Given the description of an element on the screen output the (x, y) to click on. 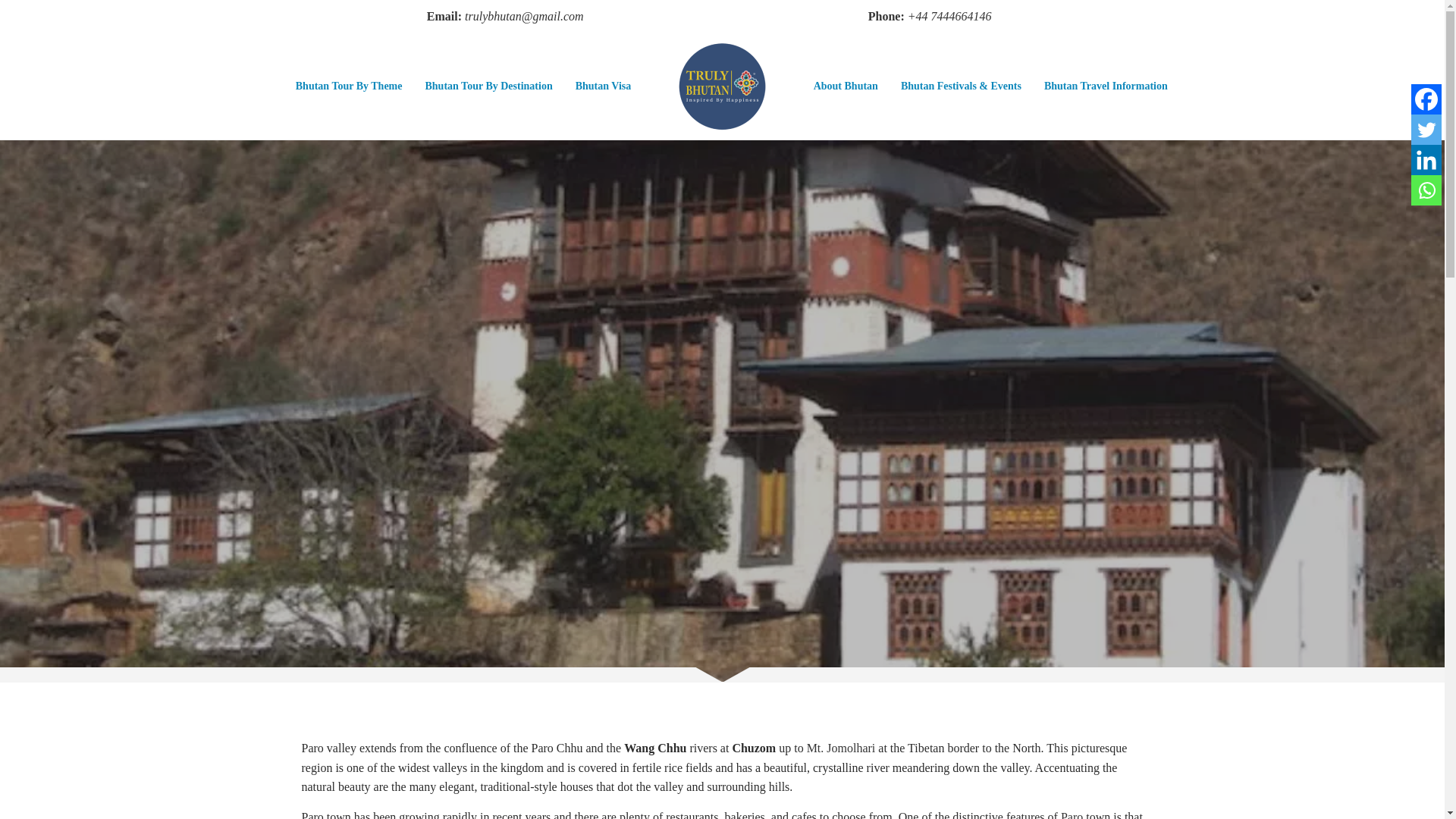
Bhutan Travel Information (1105, 86)
Whatsapp (1425, 190)
Linkedin (1425, 159)
Facebook (1425, 99)
About Bhutan (845, 86)
Bhutan Tour By Destination (488, 86)
truly logo (722, 85)
Twitter (1425, 129)
Bhutan Tour By Theme (348, 86)
Mt. Jomolhari (841, 748)
